Given the description of an element on the screen output the (x, y) to click on. 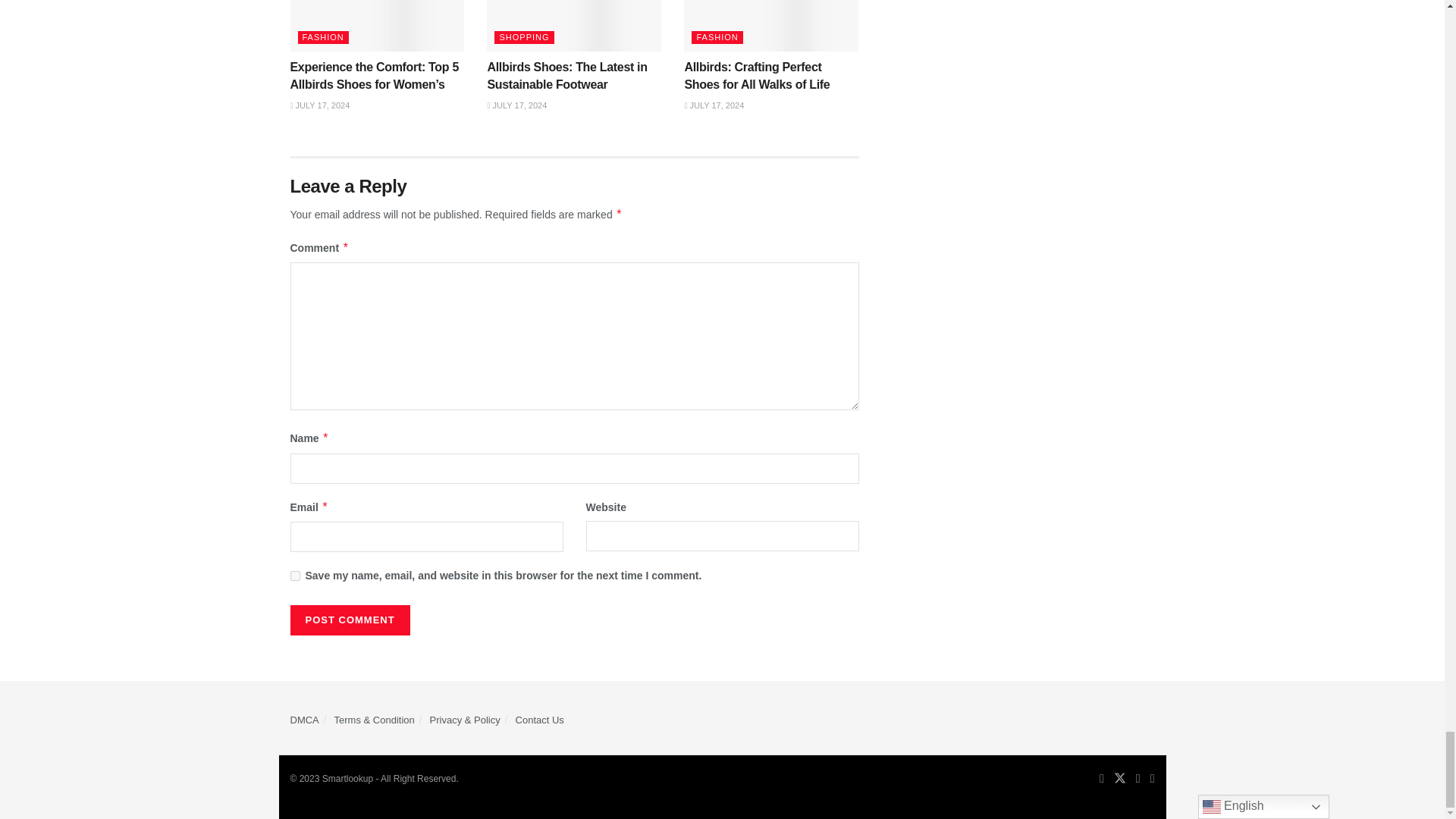
Post Comment (349, 620)
yes (294, 575)
